Given the description of an element on the screen output the (x, y) to click on. 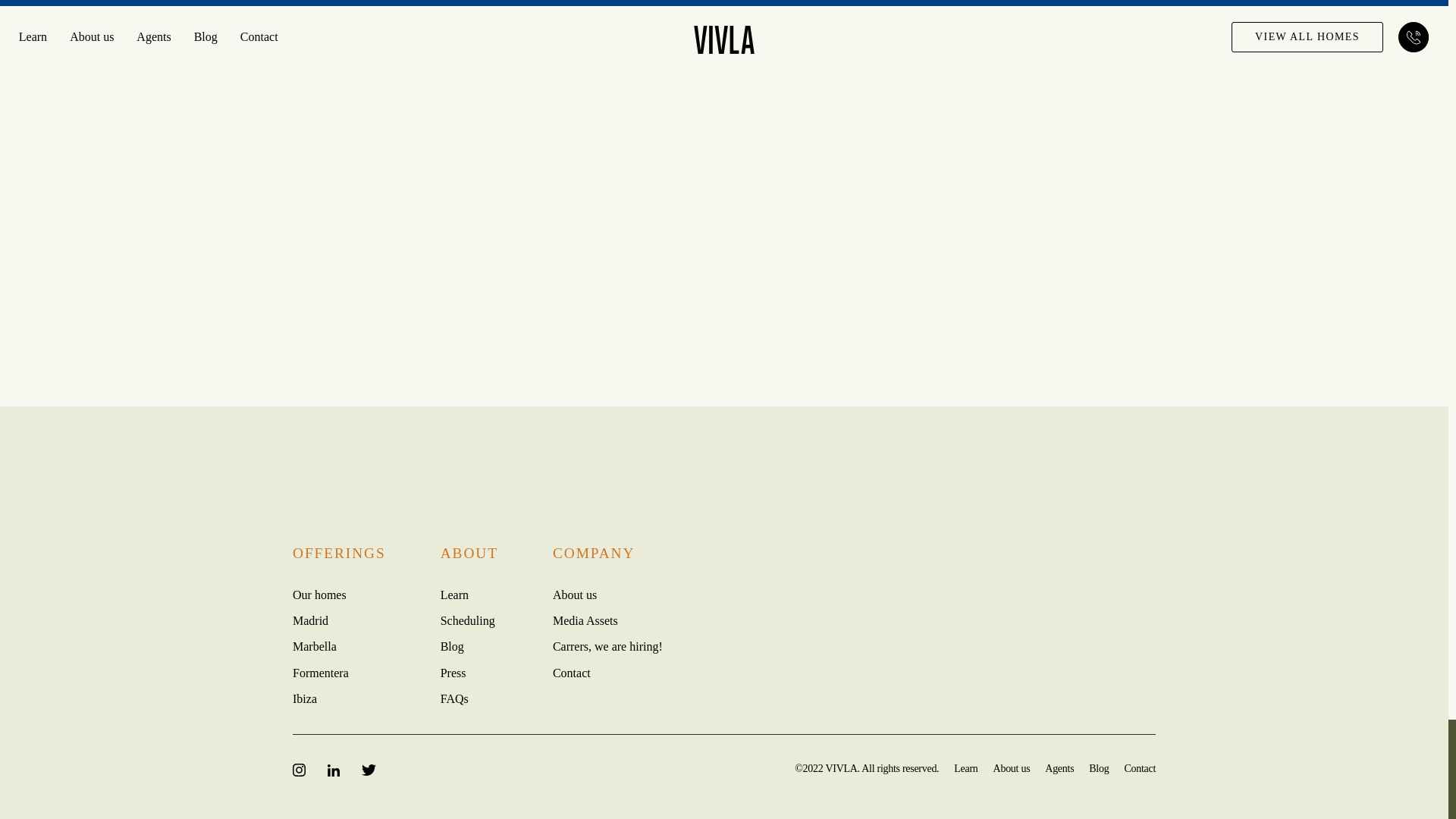
Media Assets (585, 620)
FAQs (454, 698)
Learn (454, 594)
About us (574, 594)
Contact (572, 672)
Carrers, we are hiring! (607, 645)
Blog (452, 645)
Submit (681, 358)
Our homes (319, 594)
Madrid (310, 620)
